Given the description of an element on the screen output the (x, y) to click on. 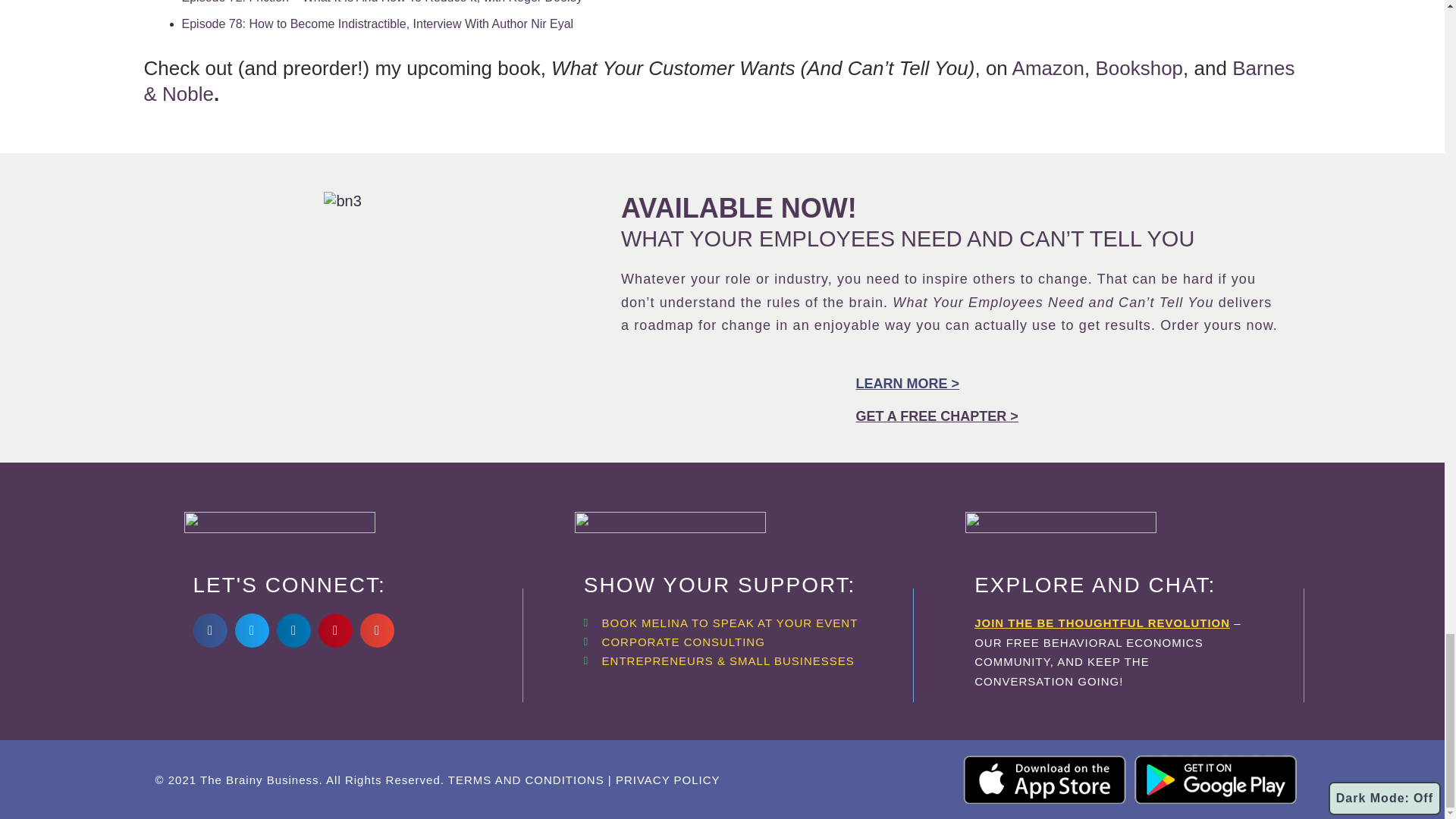
bn3 (342, 200)
